Given the description of an element on the screen output the (x, y) to click on. 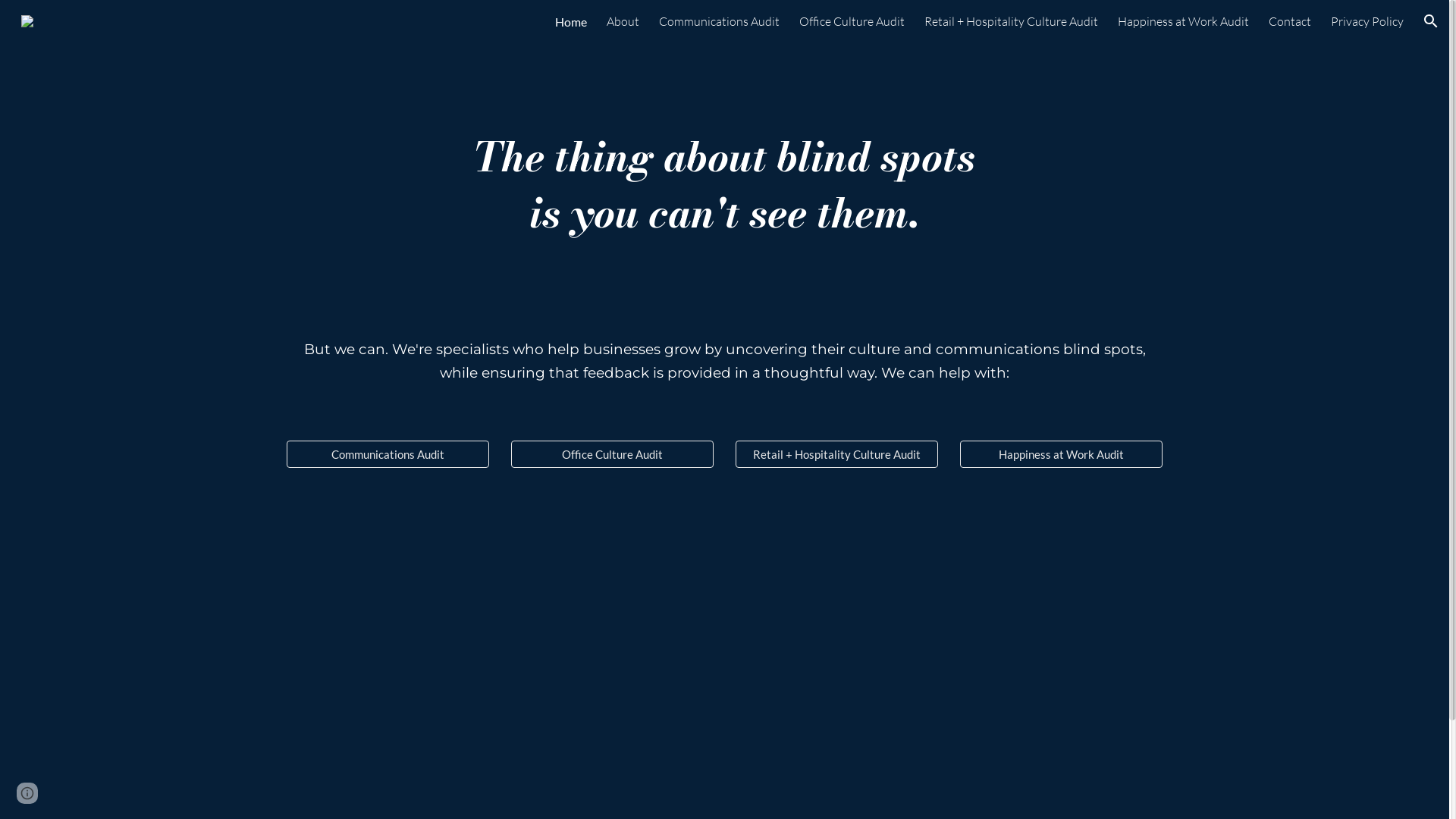
Office Culture Audit Element type: text (851, 20)
Contact Element type: text (1289, 20)
About Element type: text (622, 20)
Privacy Policy Element type: text (1366, 20)
Retail + Hospitality Culture Audit Element type: text (1011, 20)
Happiness at Work Audit Element type: text (1060, 453)
Communications Audit Element type: text (718, 20)
Happiness at Work Audit Element type: text (1182, 20)
Home Element type: text (570, 20)
Communications Audit Element type: text (387, 453)
Office Culture Audit Element type: text (611, 453)
Retail + Hospitality Culture Audit Element type: text (836, 453)
